Given the description of an element on the screen output the (x, y) to click on. 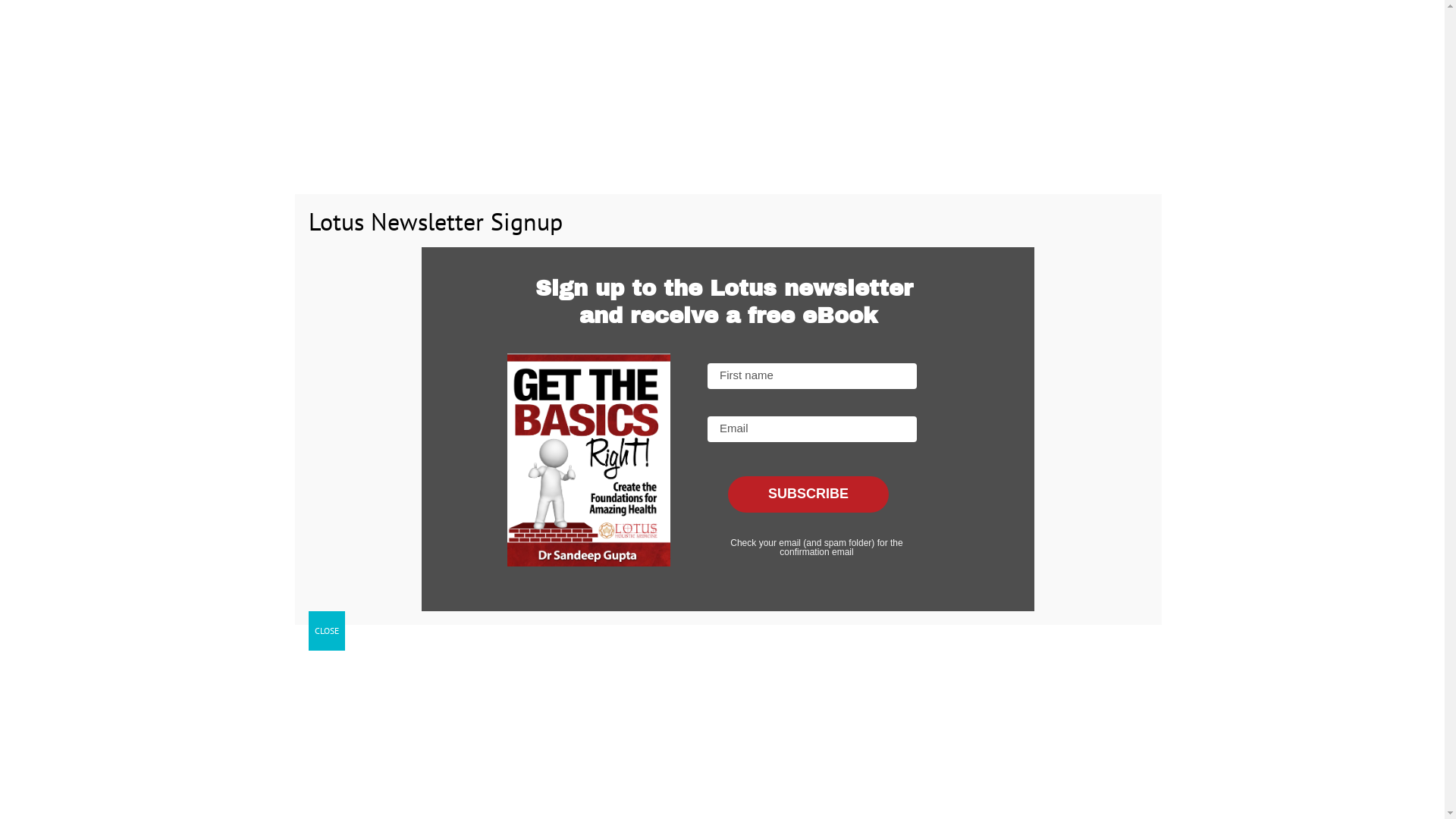
Home Element type: text (1092, 156)
About Element type: text (789, 68)
info@lotusholisticmedicine.com.au Element type: text (489, 18)
YouTube Element type: text (1091, 18)
LinkedIn Element type: text (1119, 18)
Twitter Element type: text (1064, 18)
Client Info Element type: text (961, 68)
CLOSE Element type: text (325, 630)
YouTube video player 1 Element type: hover (499, 402)
YouTube video player 4 Element type: hover (933, 657)
Media Element type: text (1022, 68)
Facebook Element type: text (1036, 18)
Modalities Element type: text (889, 68)
BOOK APPOINTMENT Element type: text (681, 68)
YouTube video player 3 Element type: hover (499, 657)
Jobs Element type: text (1067, 68)
Search Element type: hover (1102, 68)
FAQ Element type: text (833, 68)
YouTube video player 2 Element type: hover (933, 402)
